Given the description of an element on the screen output the (x, y) to click on. 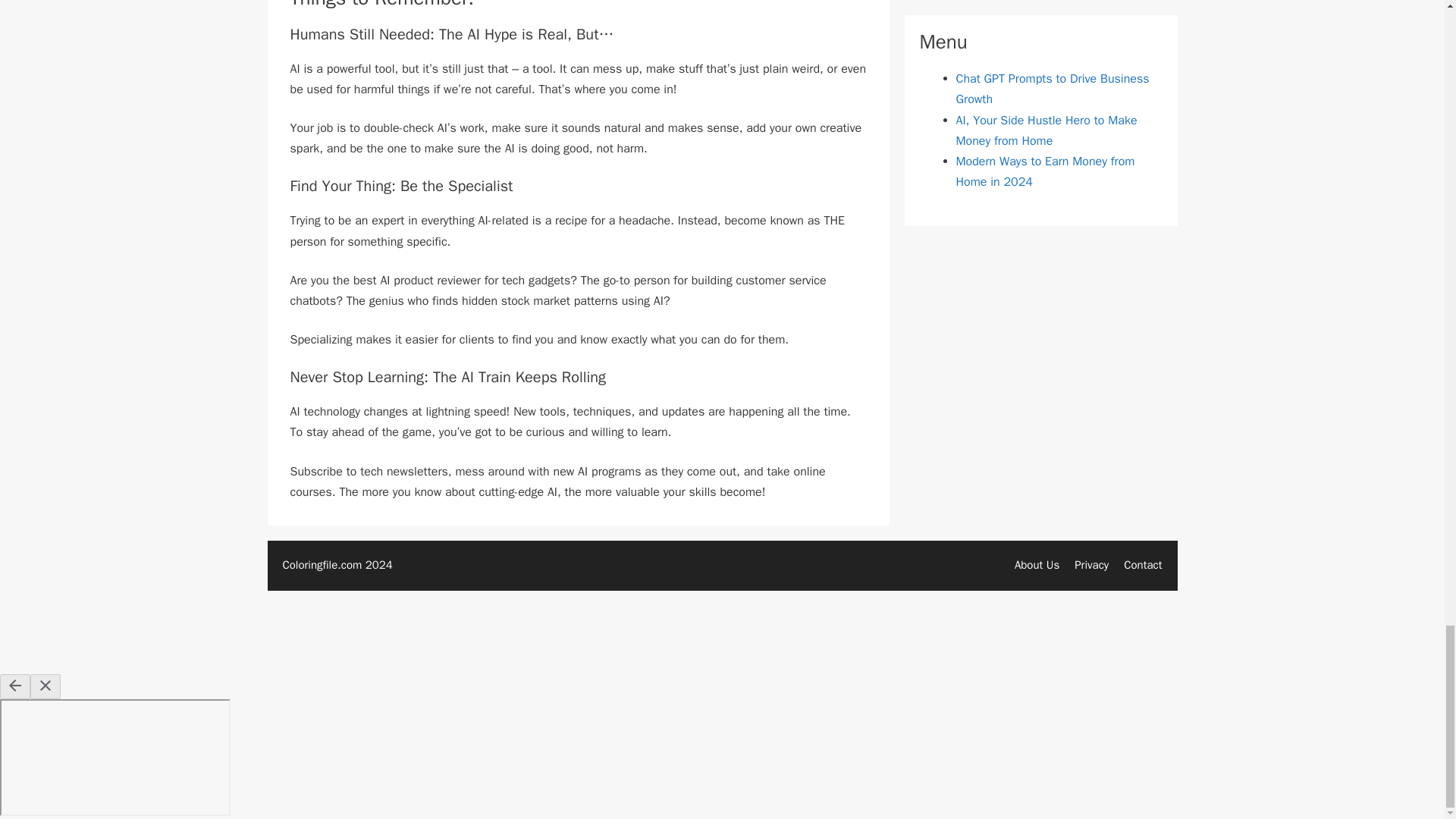
Contact (1142, 564)
Privacy (1091, 564)
About Us (1036, 564)
